Given the description of an element on the screen output the (x, y) to click on. 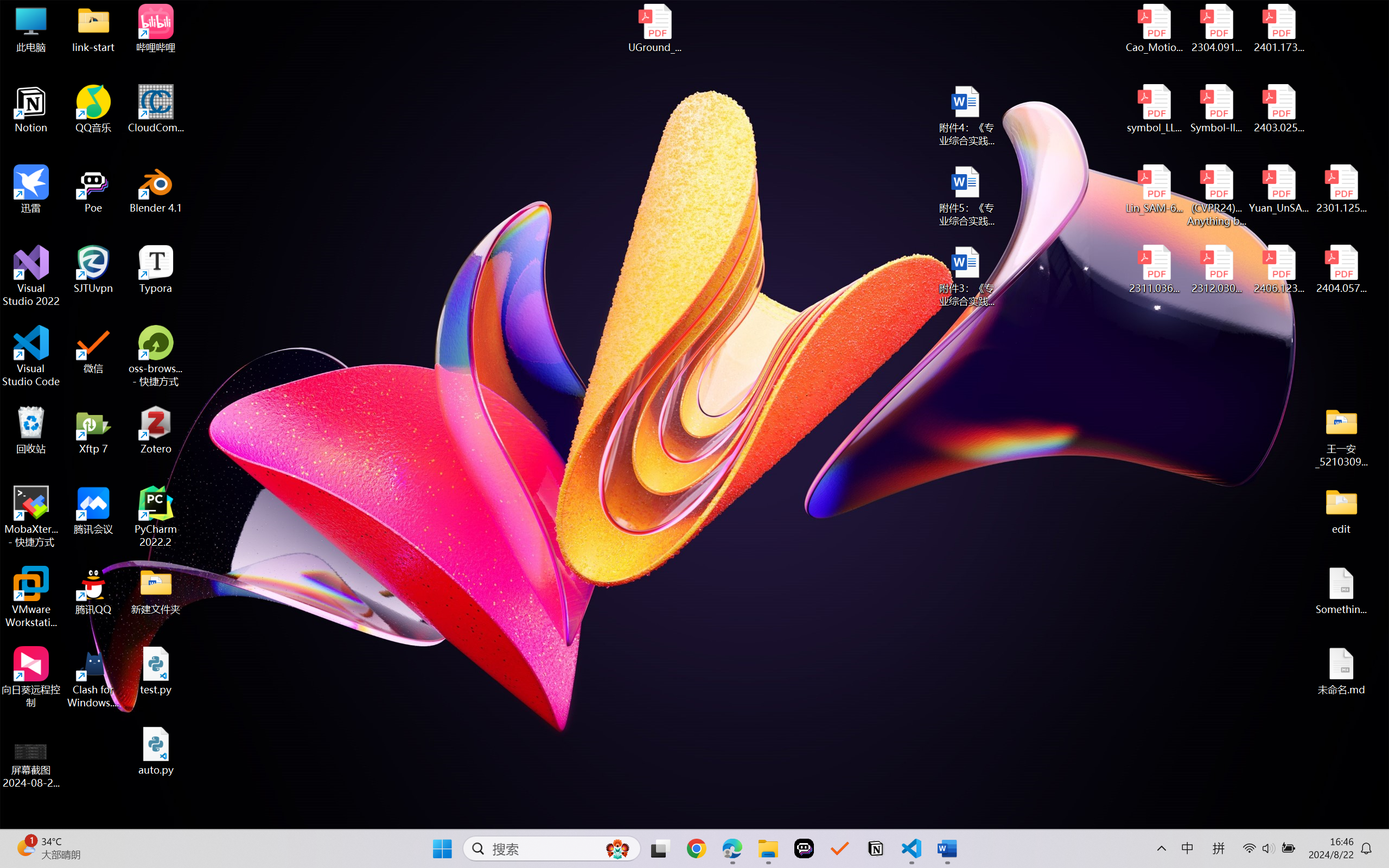
Google Chrome (696, 848)
SJTUvpn (93, 269)
2301.12597v3.pdf (1340, 189)
Something.md (1340, 591)
PyCharm 2022.2 (156, 516)
